Given the description of an element on the screen output the (x, y) to click on. 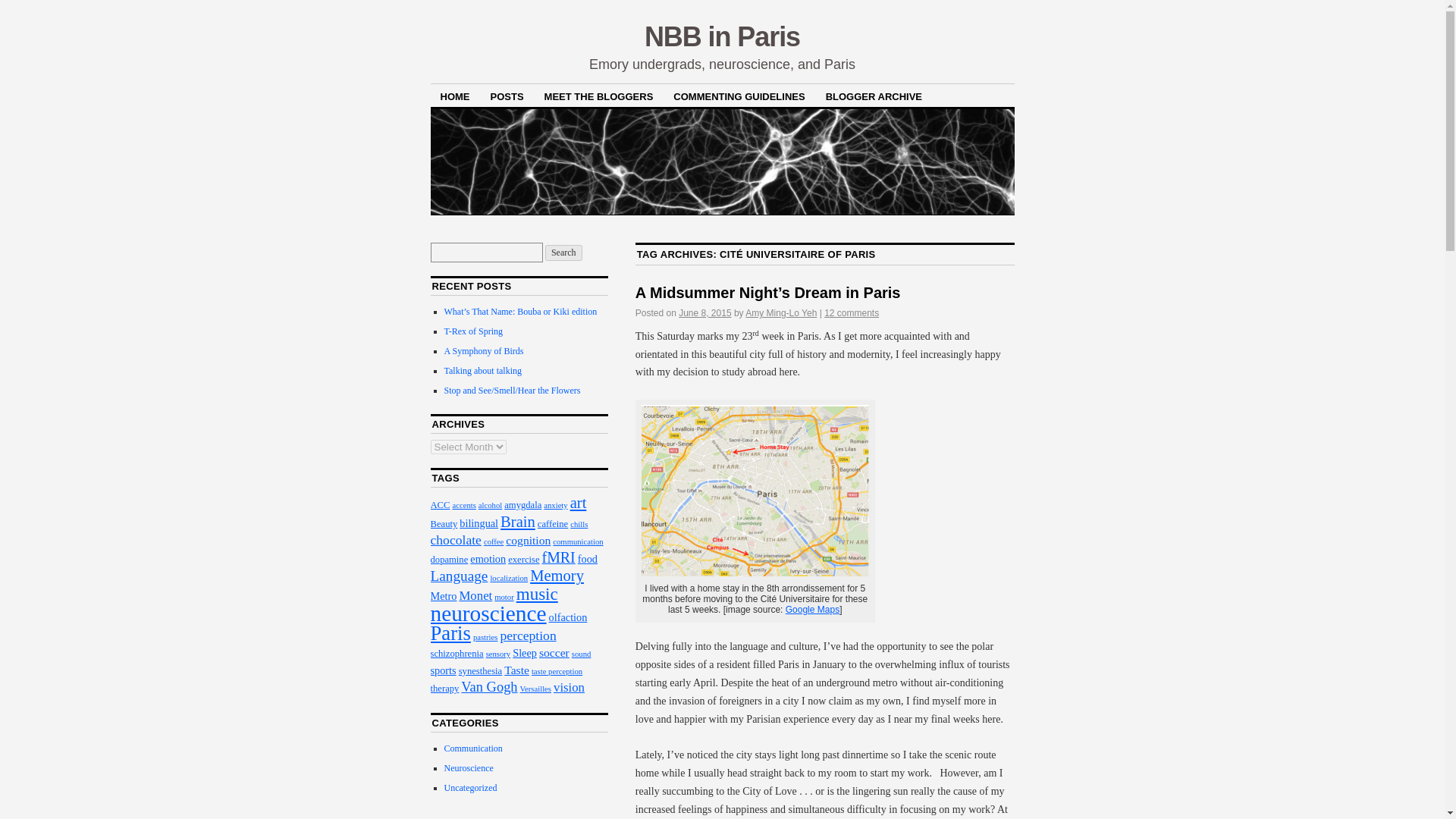
NBB in Paris (722, 36)
Amy Ming-Lo Yeh (780, 312)
POSTS (507, 96)
Talking about talking (482, 370)
3:53 pm (704, 312)
COMMENTING GUIDELINES (738, 96)
BLOGGER ARCHIVE (873, 96)
Search (563, 252)
June 8, 2015 (704, 312)
NBB in Paris (722, 36)
